Given the description of an element on the screen output the (x, y) to click on. 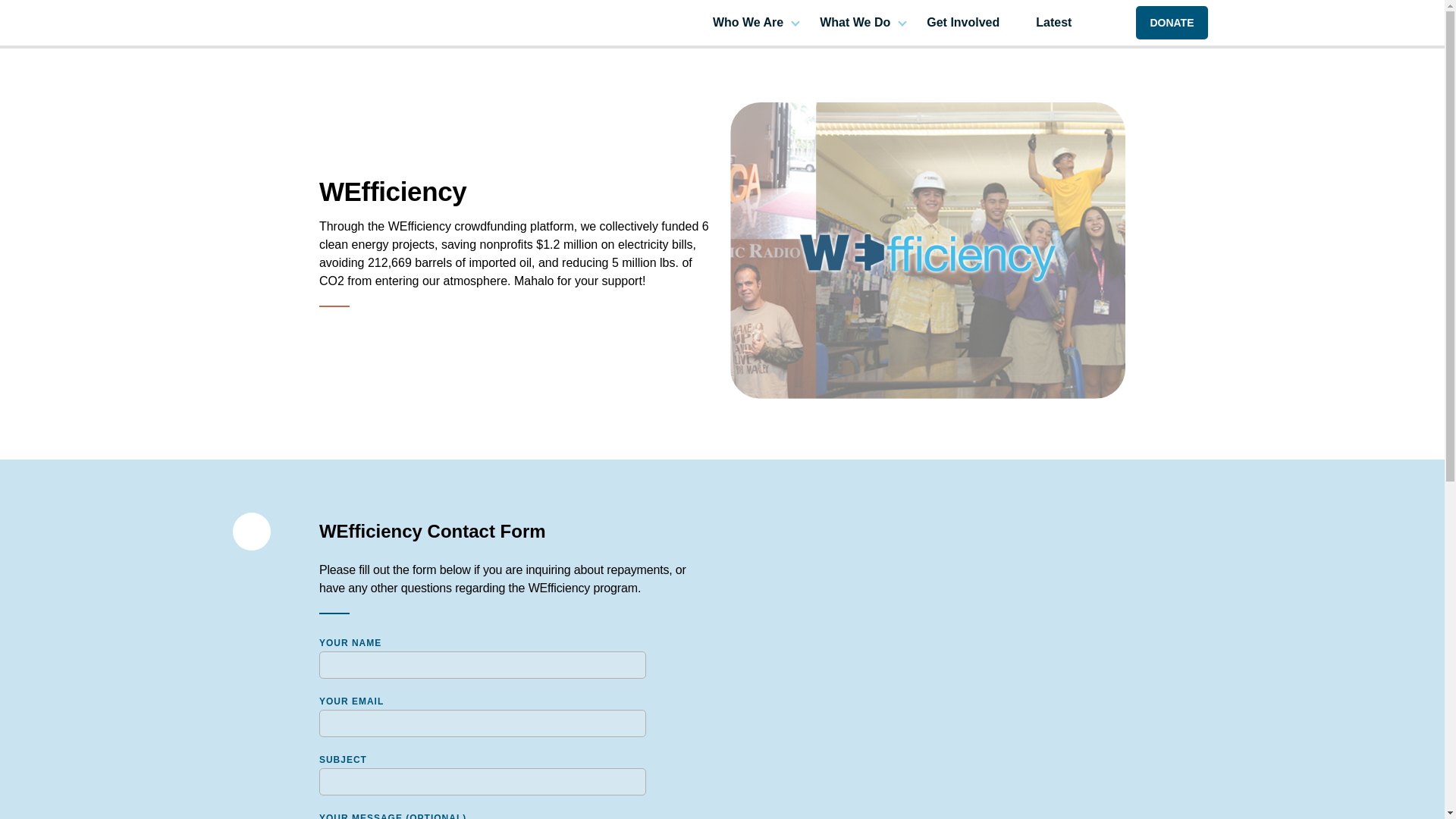
What We Do (854, 21)
Get Involved (962, 21)
Donate (1171, 22)
Who We Are (748, 21)
DONATE (1171, 22)
Go to homepage (311, 21)
Latest (1053, 21)
